Given the description of an element on the screen output the (x, y) to click on. 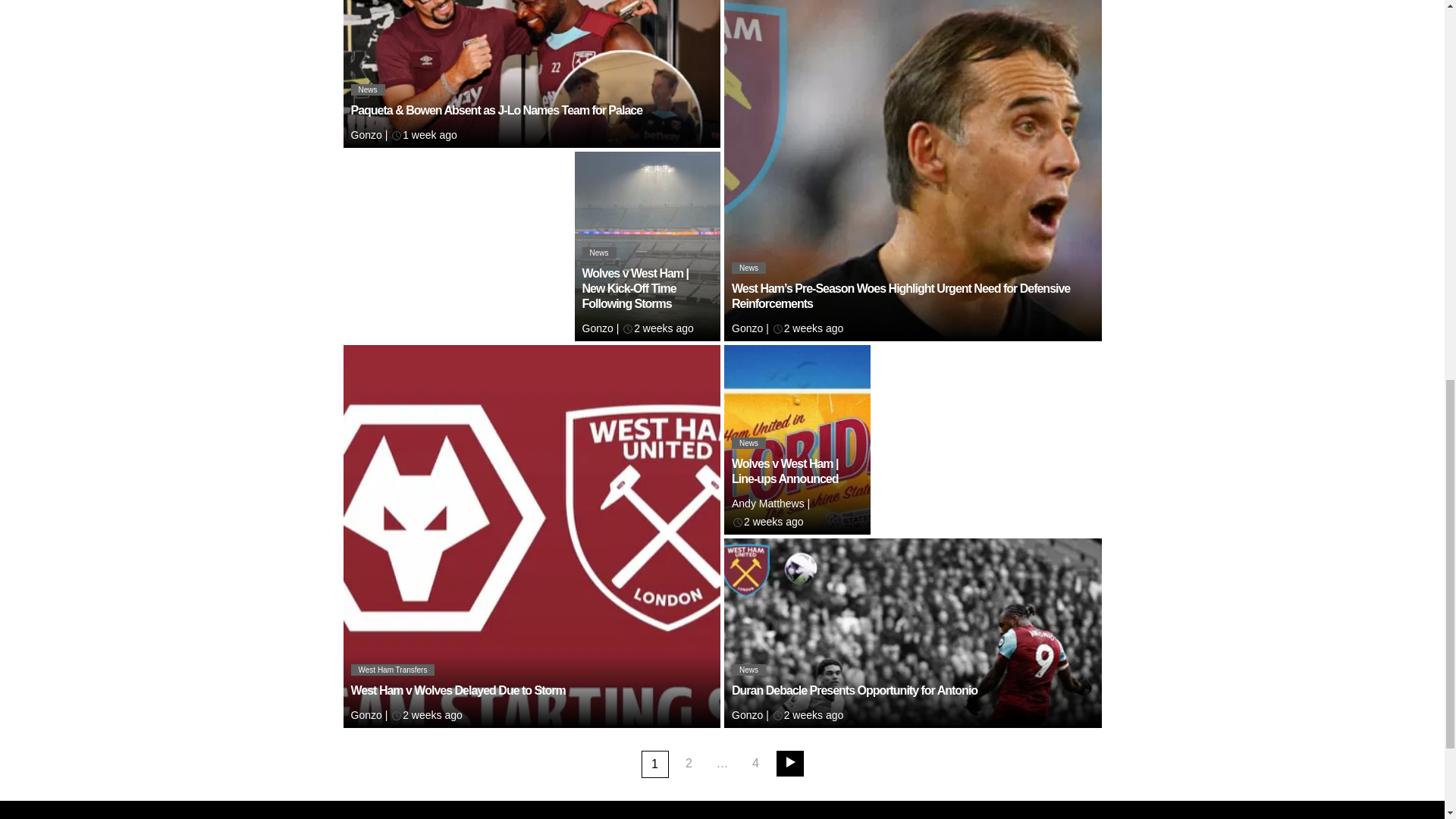
Gonzo (365, 134)
News (748, 267)
News (367, 89)
